Given the description of an element on the screen output the (x, y) to click on. 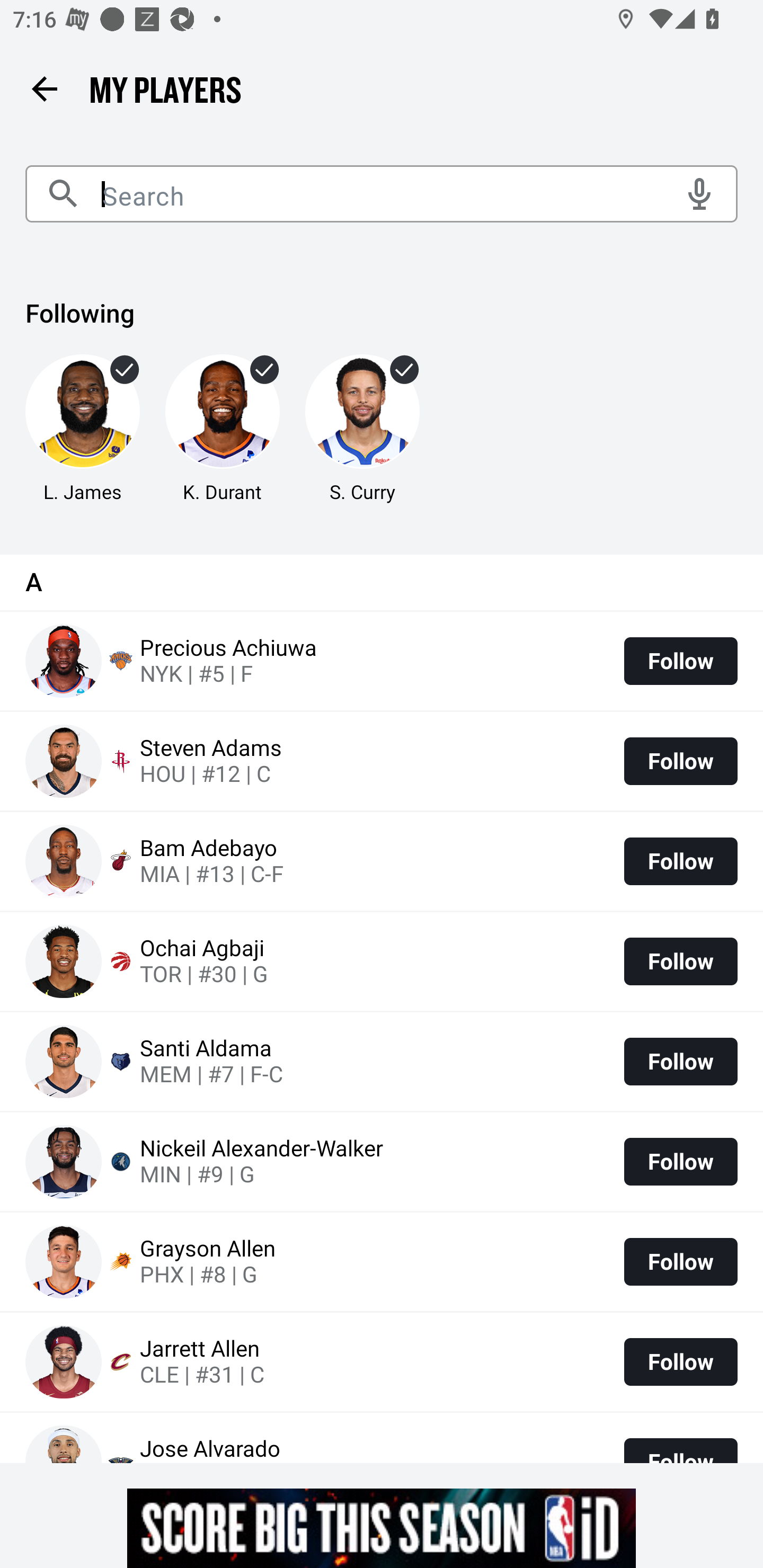
Back button (44, 88)
Search (381, 193)
Follow (680, 660)
Follow (680, 760)
Follow (680, 861)
Follow (680, 961)
Follow (680, 1061)
Follow (680, 1161)
Follow (680, 1261)
Follow (680, 1361)
g5nqqygr7owph (381, 1528)
